Given the description of an element on the screen output the (x, y) to click on. 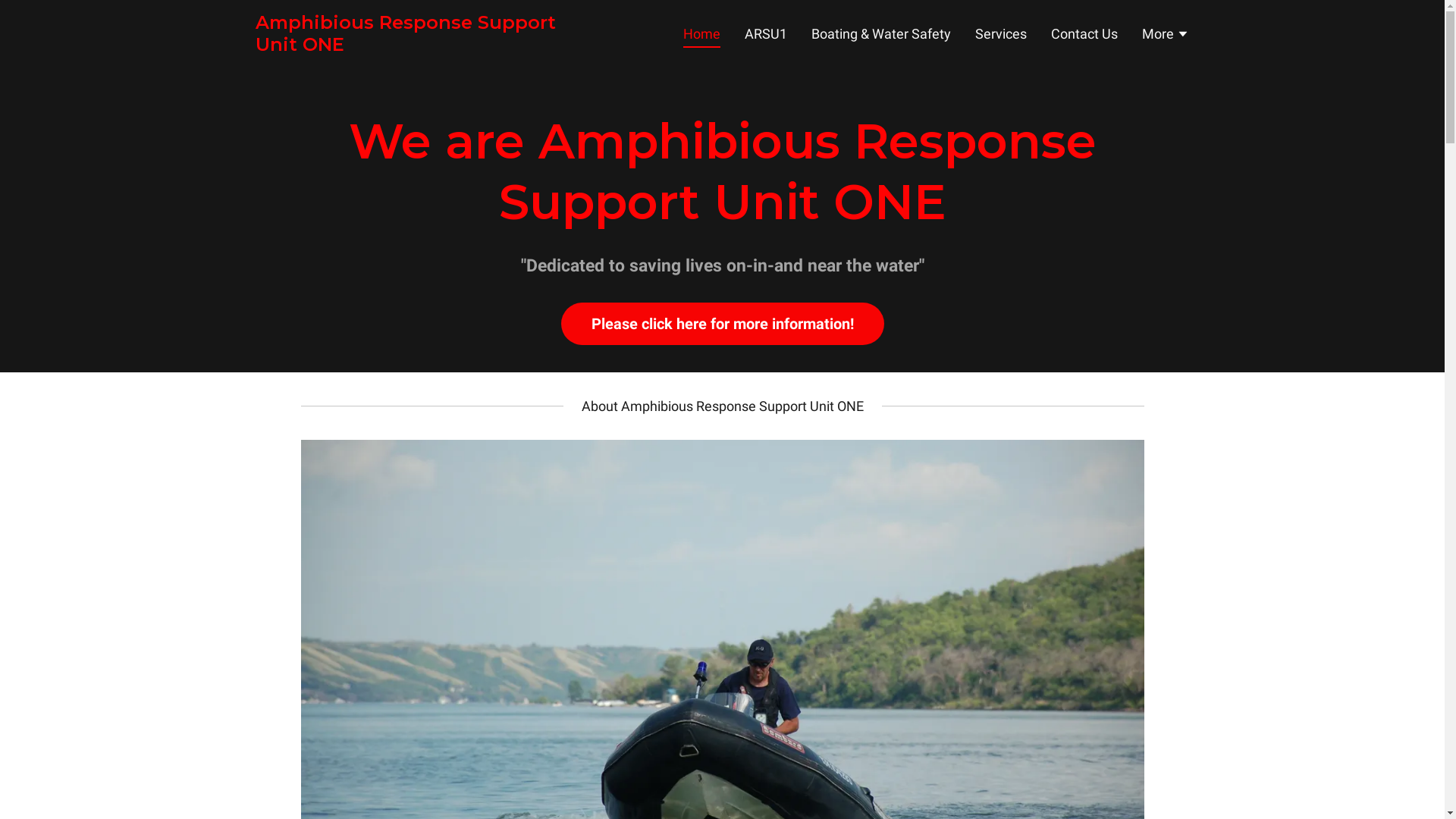
Boating & Water Safety Element type: text (880, 33)
Amphibious Response Support Unit ONE Element type: text (417, 45)
Contact Us Element type: text (1084, 33)
ARSU1 Element type: text (765, 33)
Please click here for more information! Element type: text (722, 323)
More Element type: text (1165, 35)
Home Element type: text (701, 36)
Services Element type: text (1000, 33)
